Given the description of an element on the screen output the (x, y) to click on. 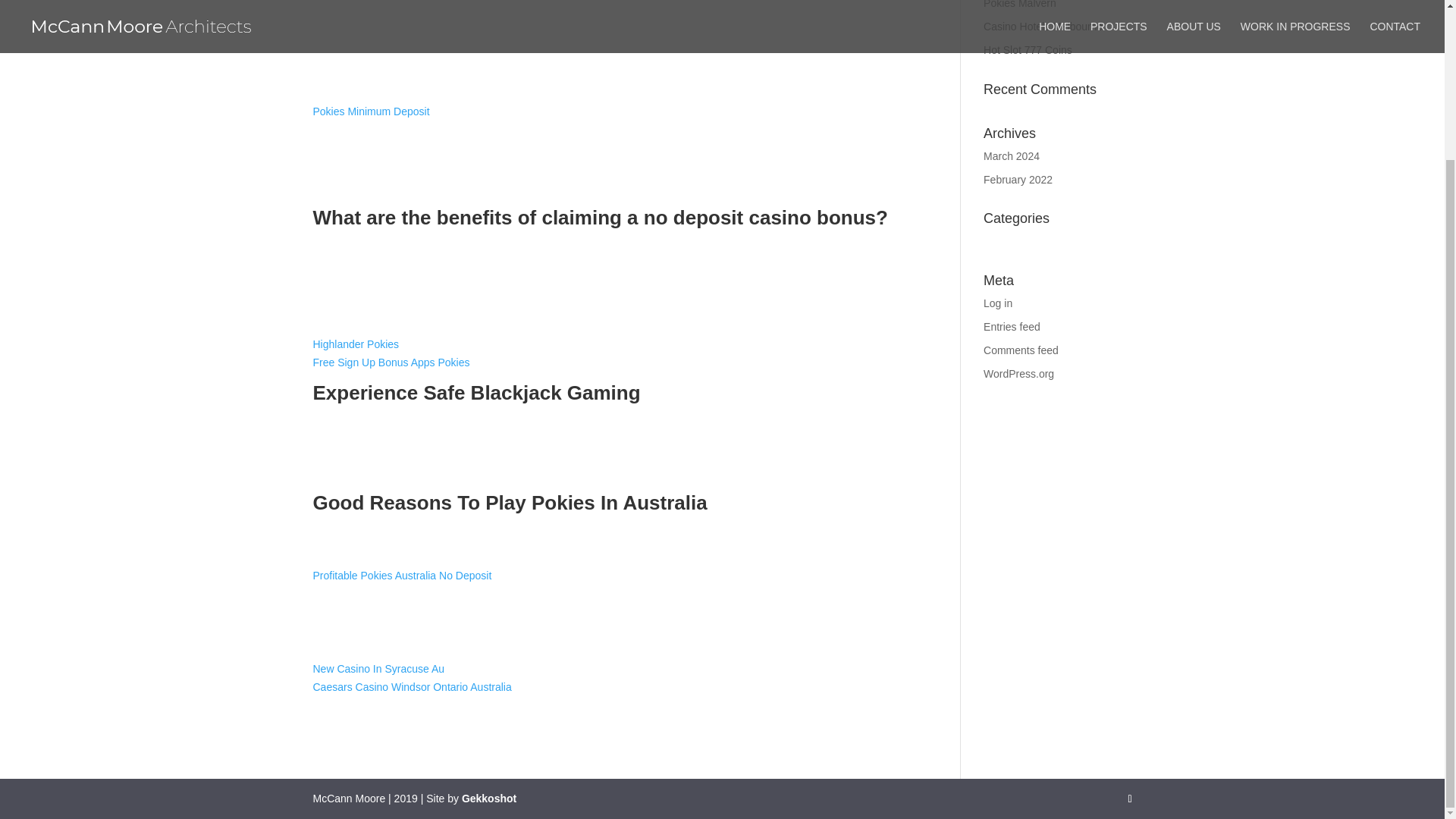
Comments feed (1021, 349)
Profitable Pokies Australia No Deposit (402, 575)
Pokies Minimum Deposit (371, 111)
Casino Hotels Melbourne (1043, 26)
February 2022 (1018, 179)
Hot Slot 777 Coins (1027, 50)
New Casino In Syracuse Au (378, 668)
Highlander Pokies (355, 344)
March 2024 (1011, 155)
Pokies Malvern (1020, 4)
